Given the description of an element on the screen output the (x, y) to click on. 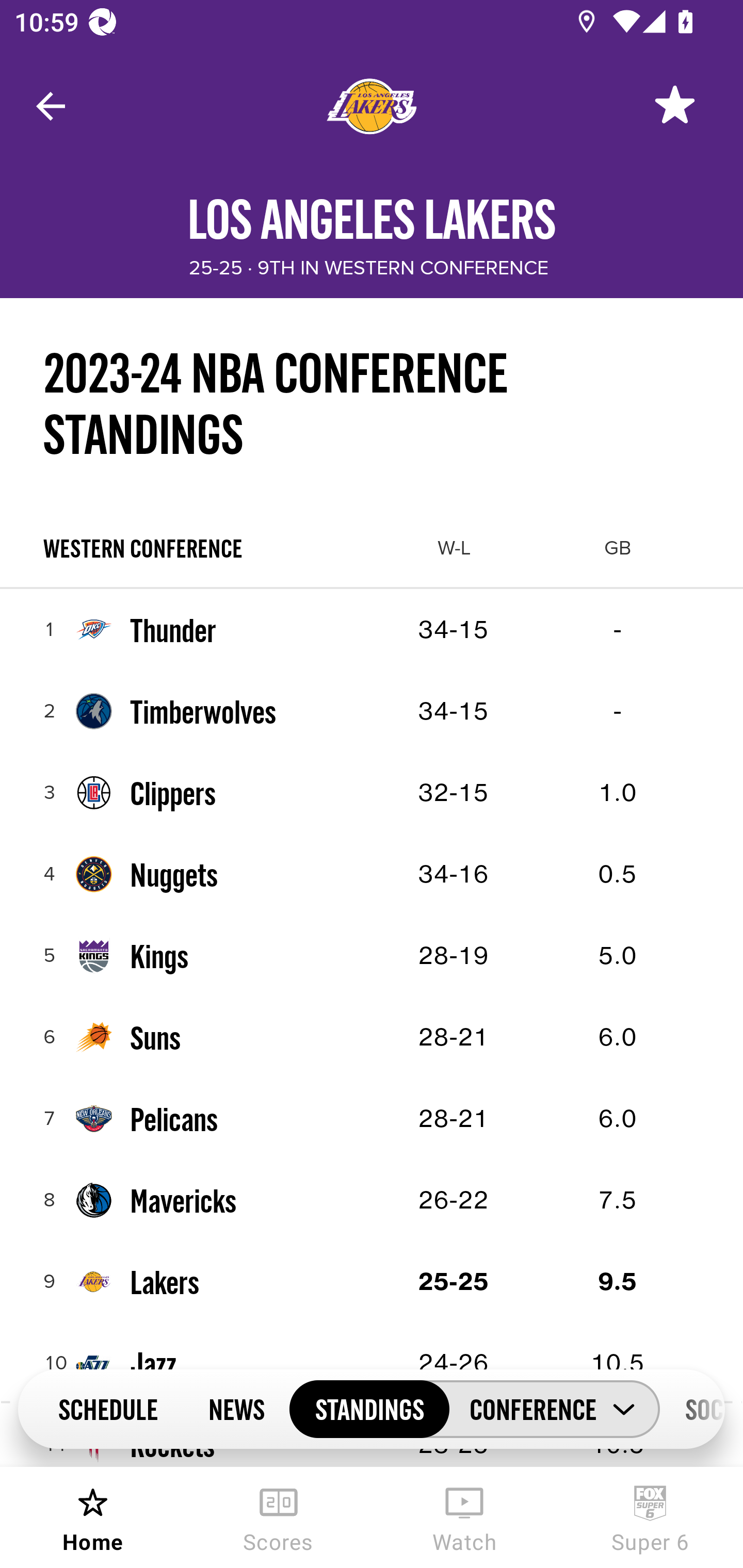
Navigate up (50, 106)
25-25 · 9TH IN WESTERN CONFERENCE (368, 267)
WESTERN CONFERENCE W-L GB (371, 547)
1 Thunder 34-15 - (371, 629)
2 Timberwolves 34-15 - (371, 711)
3 Clippers 32-15 1.0 (371, 792)
4 Nuggets 34-16 0.5 (371, 874)
5 Kings 28-19 5.0 (371, 955)
6 Suns 28-21 6.0 (371, 1037)
7 Pelicans 28-21 6.0 (371, 1118)
8 Mavericks 26-22 7.5 (371, 1200)
10 Jazz 24-26 10.5 (371, 1363)
SCHEDULE (107, 1408)
NEWS (235, 1408)
CONFERENCE (554, 1408)
Scores (278, 1517)
Watch (464, 1517)
Super 6 (650, 1517)
